Given the description of an element on the screen output the (x, y) to click on. 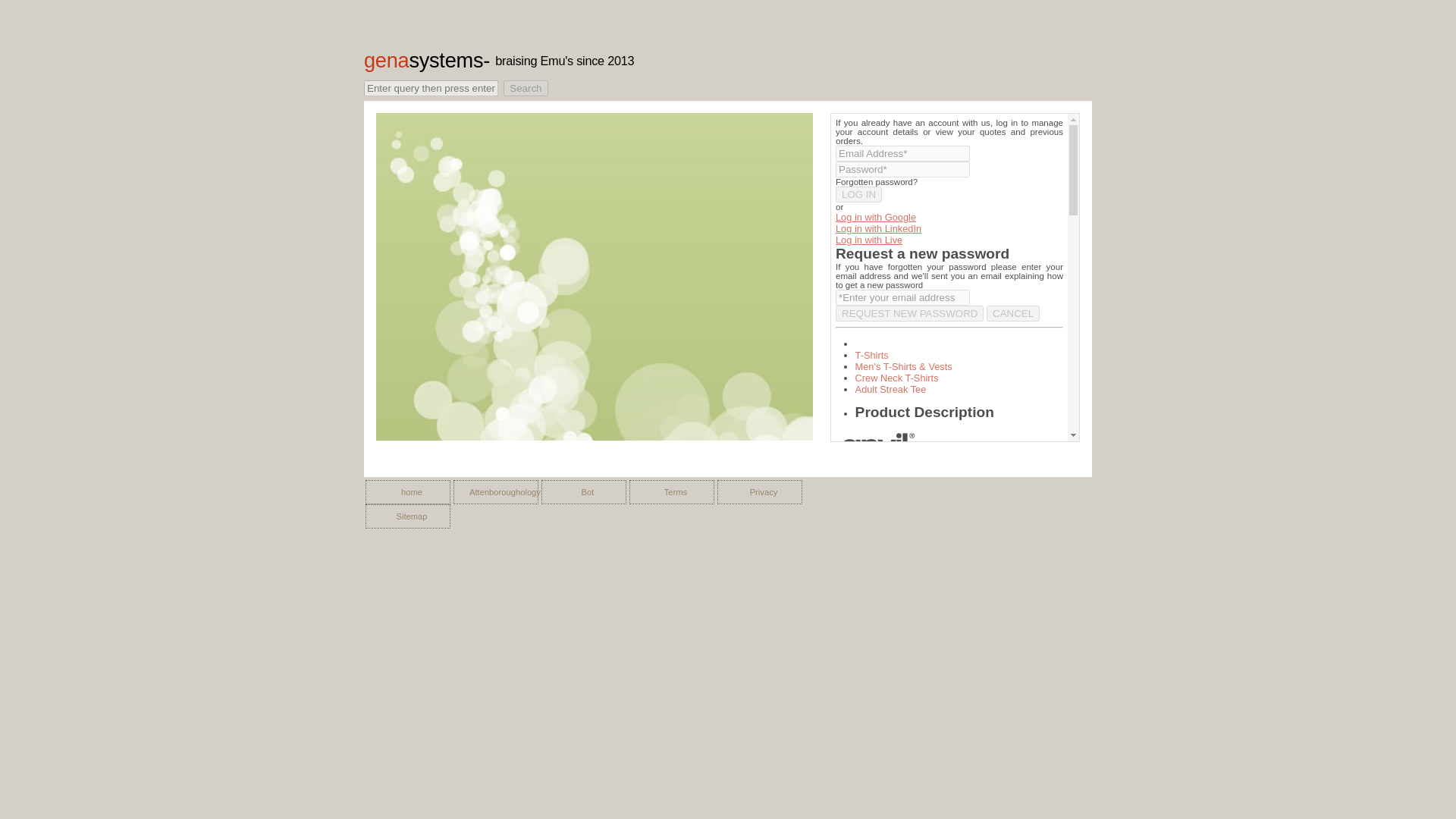
Log in with : LinkedIn (878, 228)
Product Description (925, 412)
Log in with Live (868, 239)
Crew Neck T-Shirts (897, 378)
Personalise your Adult Streak Tee now! (891, 389)
LOG IN (858, 194)
T-Shirts (872, 355)
REQUEST NEW PASSWORD (909, 313)
Log in with LinkedIn (878, 228)
T-Shirts (872, 355)
Log in with : Google (875, 216)
Return to Genasys Homepage (423, 60)
LOG IN (858, 194)
Search (525, 88)
Adult Streak Tee (891, 389)
